Given the description of an element on the screen output the (x, y) to click on. 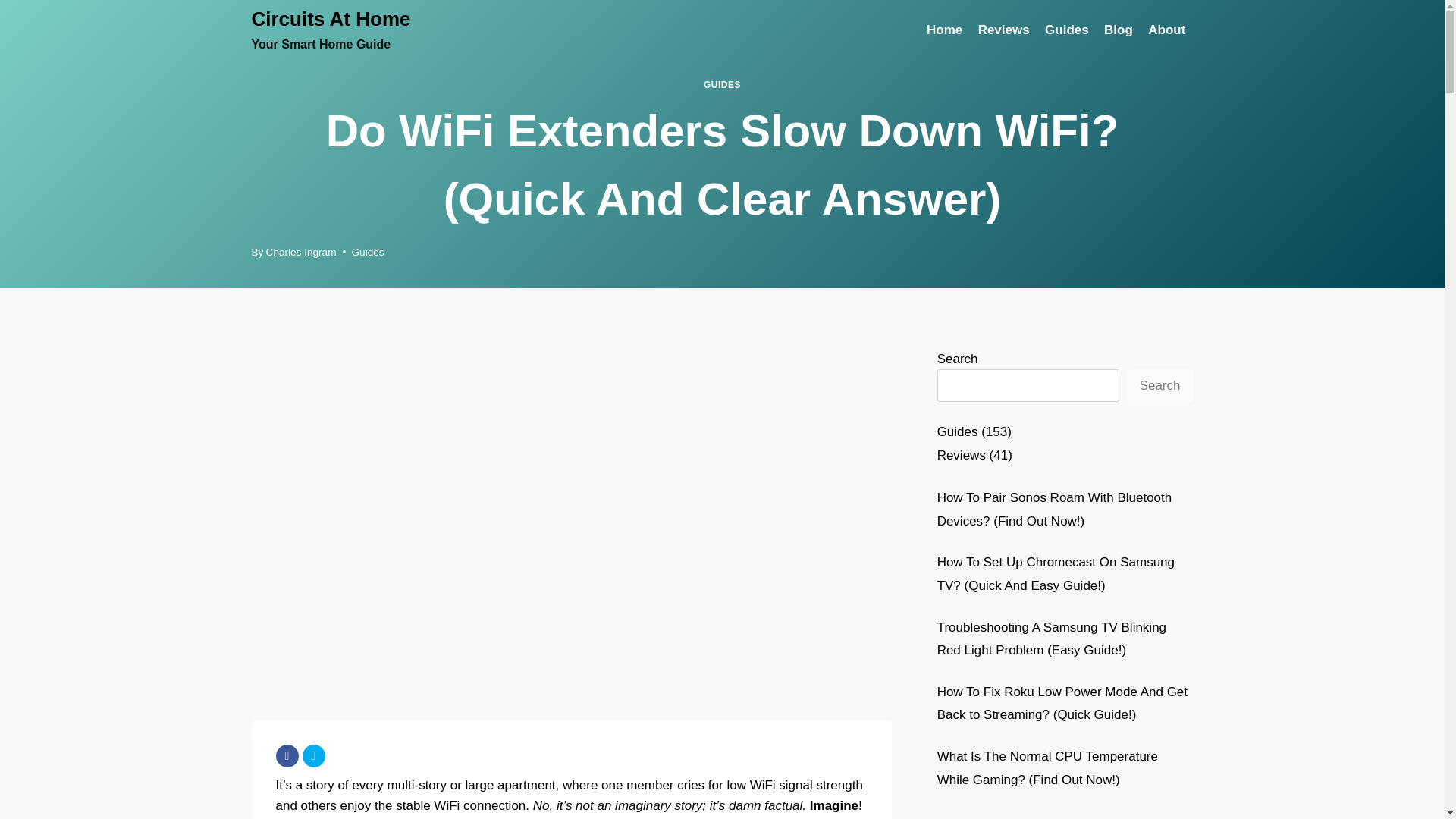
Blog (1118, 30)
Guides (330, 30)
Home (368, 251)
GUIDES (944, 30)
Reviews (722, 84)
Guides (1002, 30)
About (1066, 30)
Charles Ingram (1166, 30)
